Given the description of an element on the screen output the (x, y) to click on. 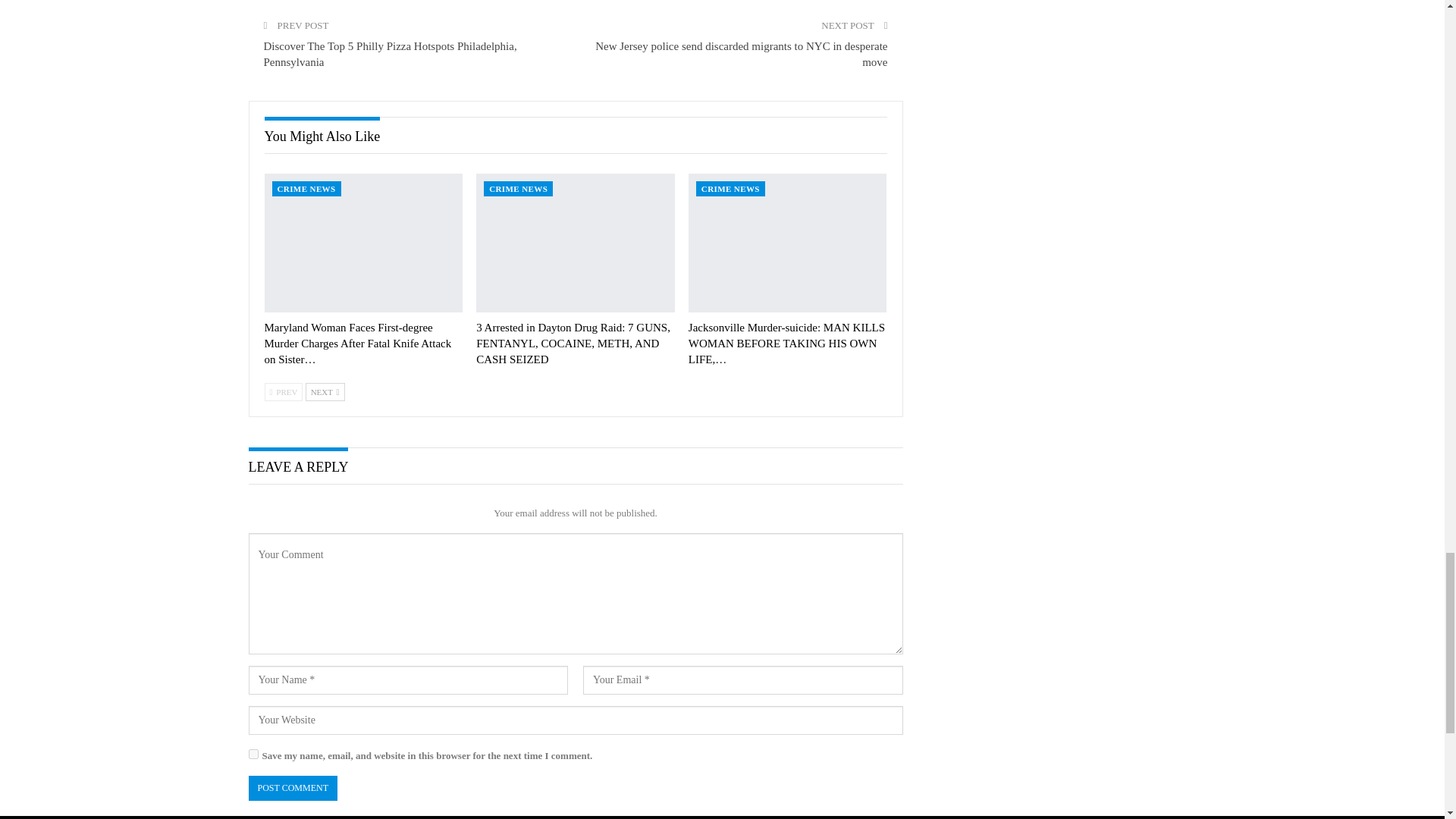
yes (253, 754)
Post Comment (292, 787)
